Given the description of an element on the screen output the (x, y) to click on. 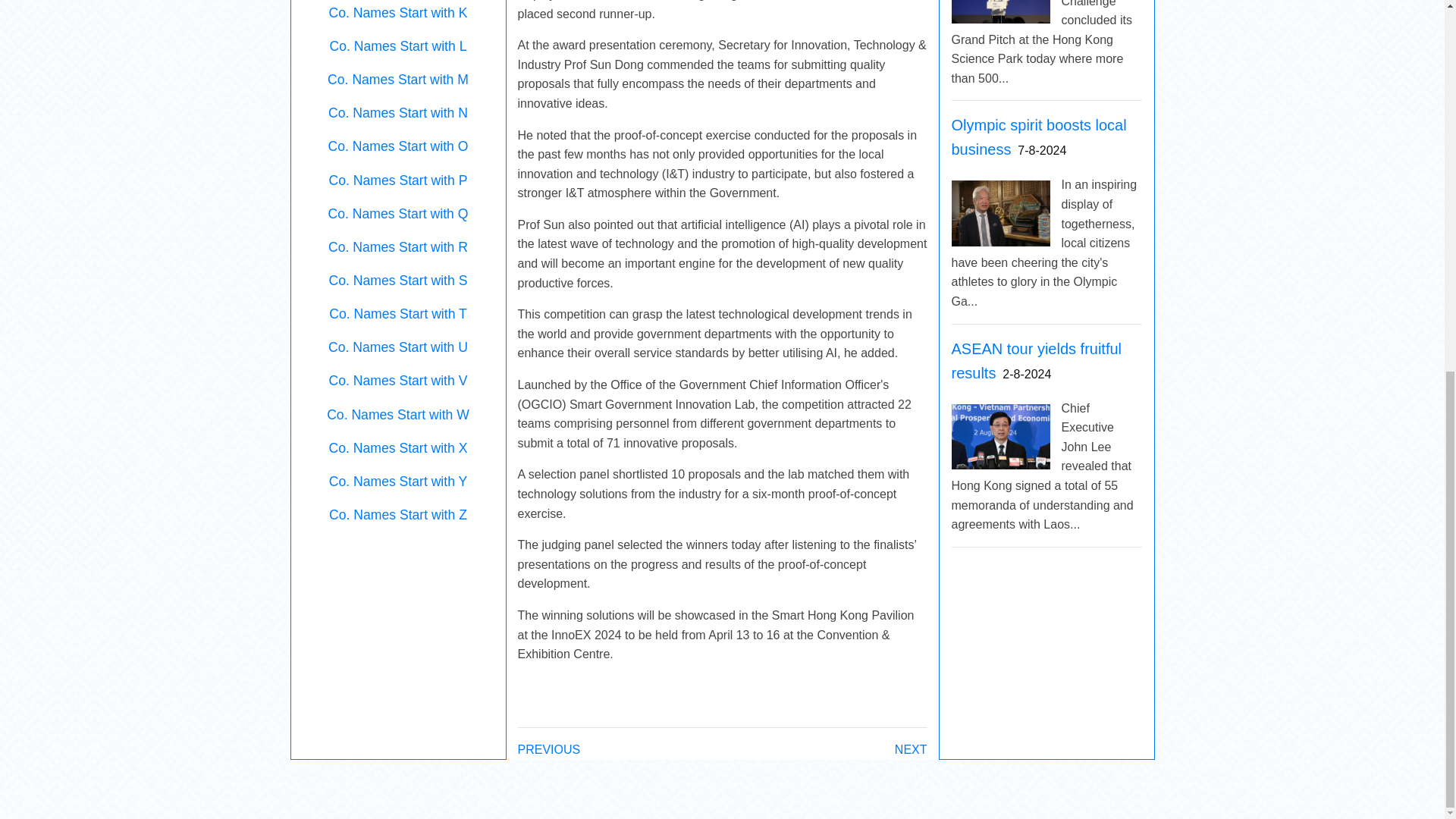
Co. Names Start with O (398, 145)
Co. Names Start with X (398, 447)
Co. Names Start with N (398, 112)
Co. Names Start with R (398, 246)
shortlisted (640, 473)
ASEAN tour yields fruitful results (1035, 360)
Co. Names Start with Z (398, 514)
Co. Names Start with U (398, 346)
Co. Names Start with V (398, 380)
Co. Names Start with W (397, 414)
